Given the description of an element on the screen output the (x, y) to click on. 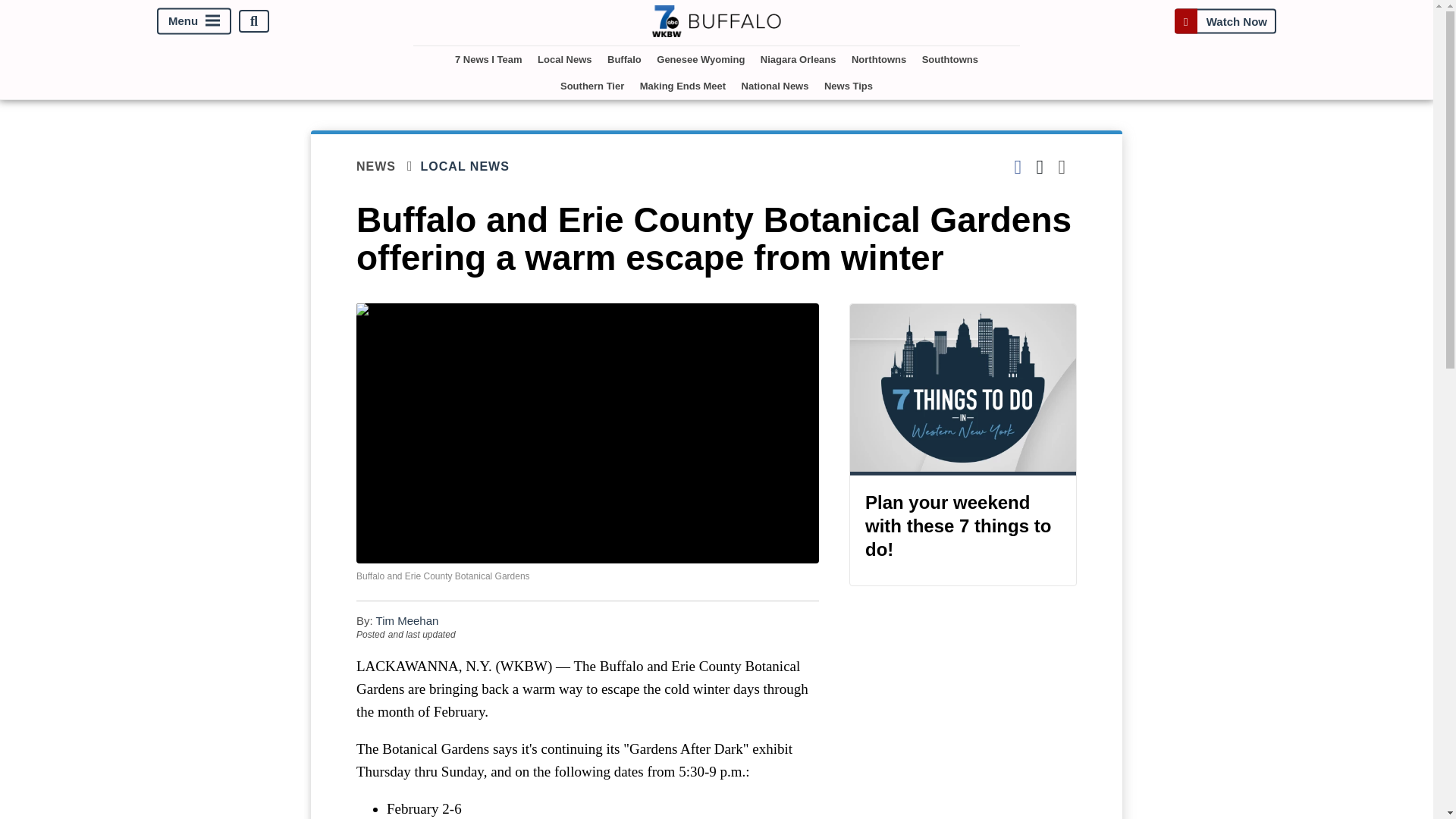
Menu (194, 21)
Watch Now (1224, 21)
